Given the description of an element on the screen output the (x, y) to click on. 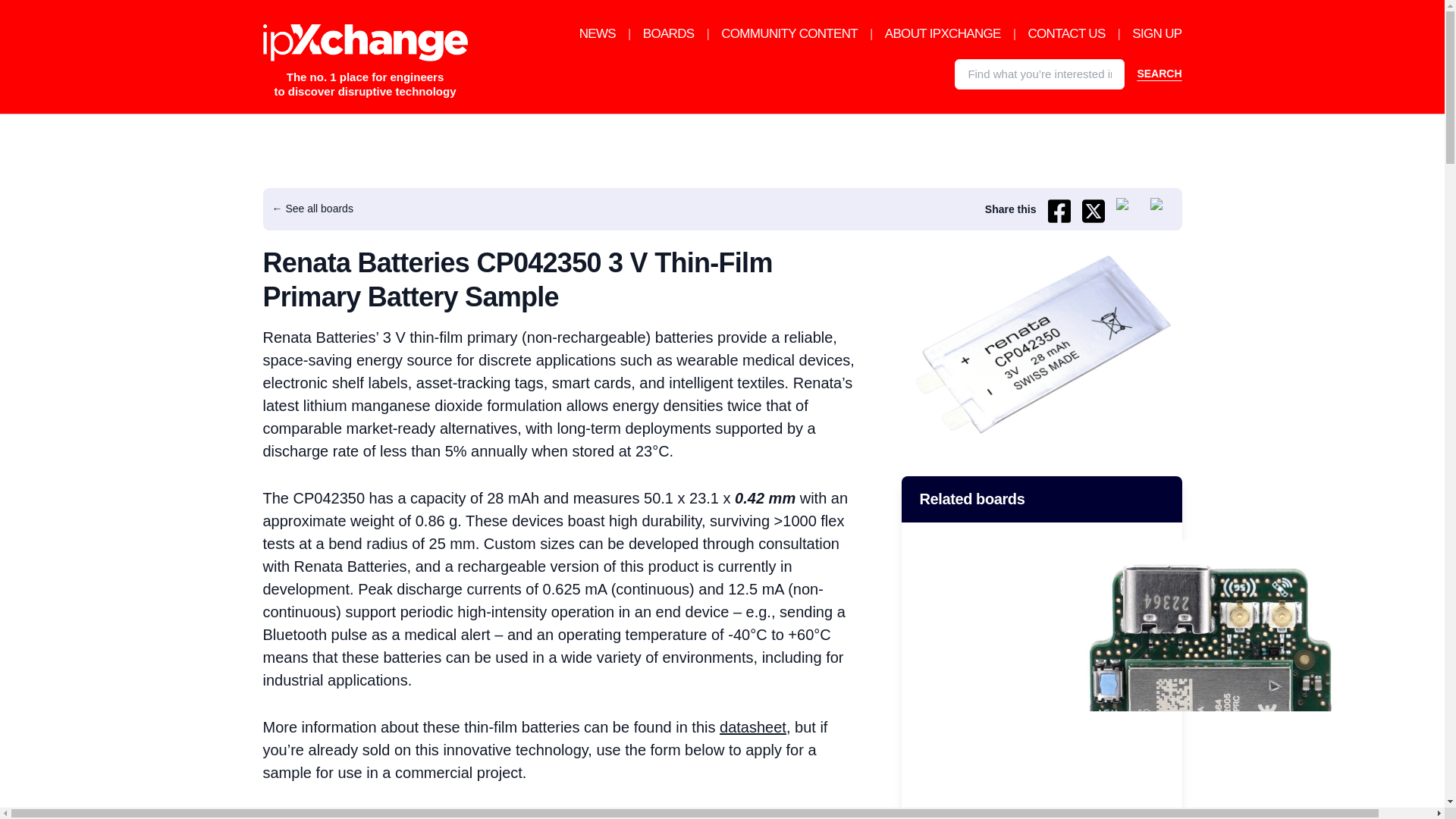
ABOUT IPXCHANGE (943, 33)
datasheet (752, 727)
Search (1158, 74)
BOARDS (668, 33)
SIGN UP (1156, 33)
Search (1158, 74)
COMMUNITY CONTENT (788, 33)
CONTACT US (1066, 33)
NEWS (597, 33)
